Given the description of an element on the screen output the (x, y) to click on. 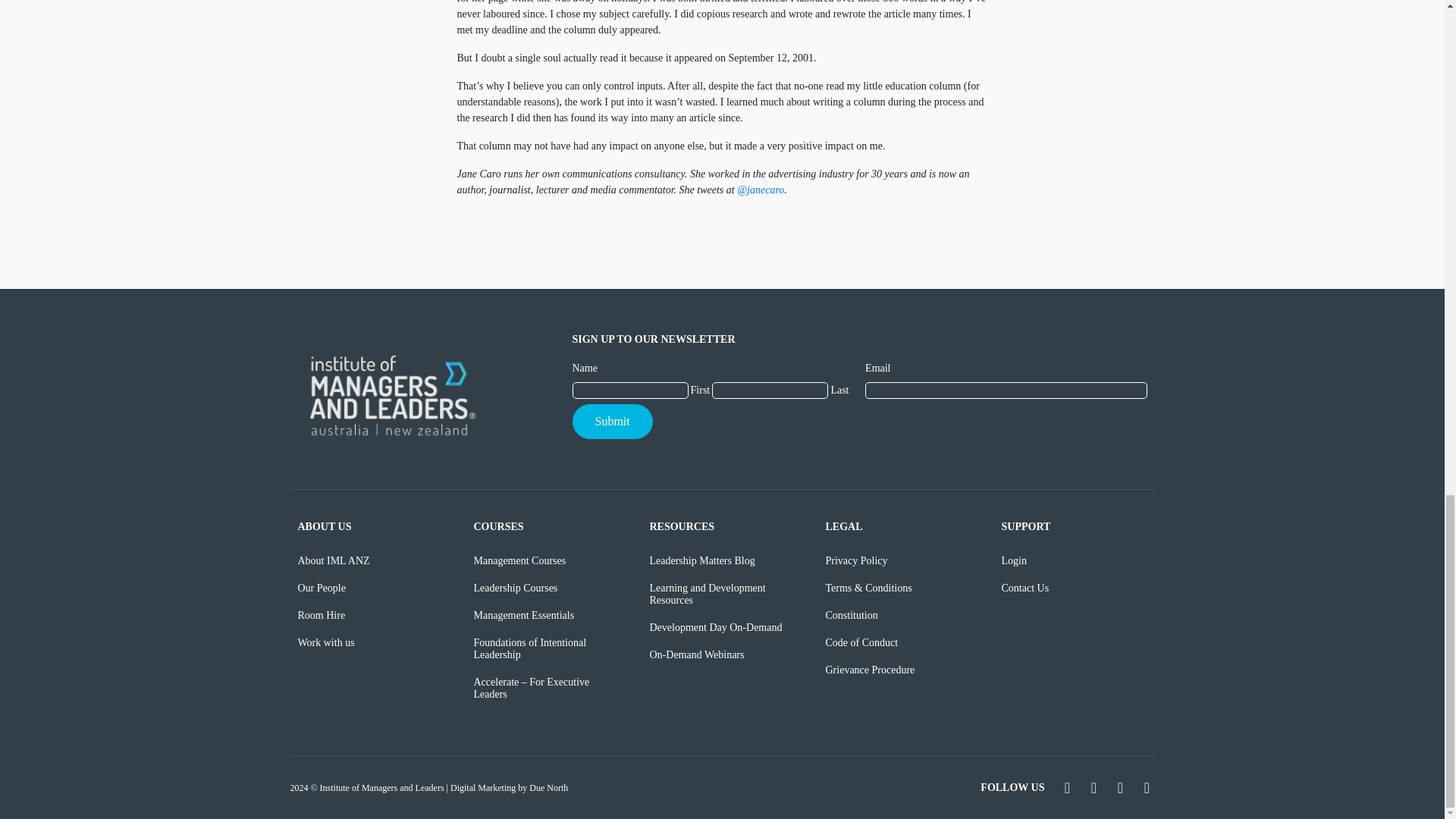
Submit (612, 421)
